Given the description of an element on the screen output the (x, y) to click on. 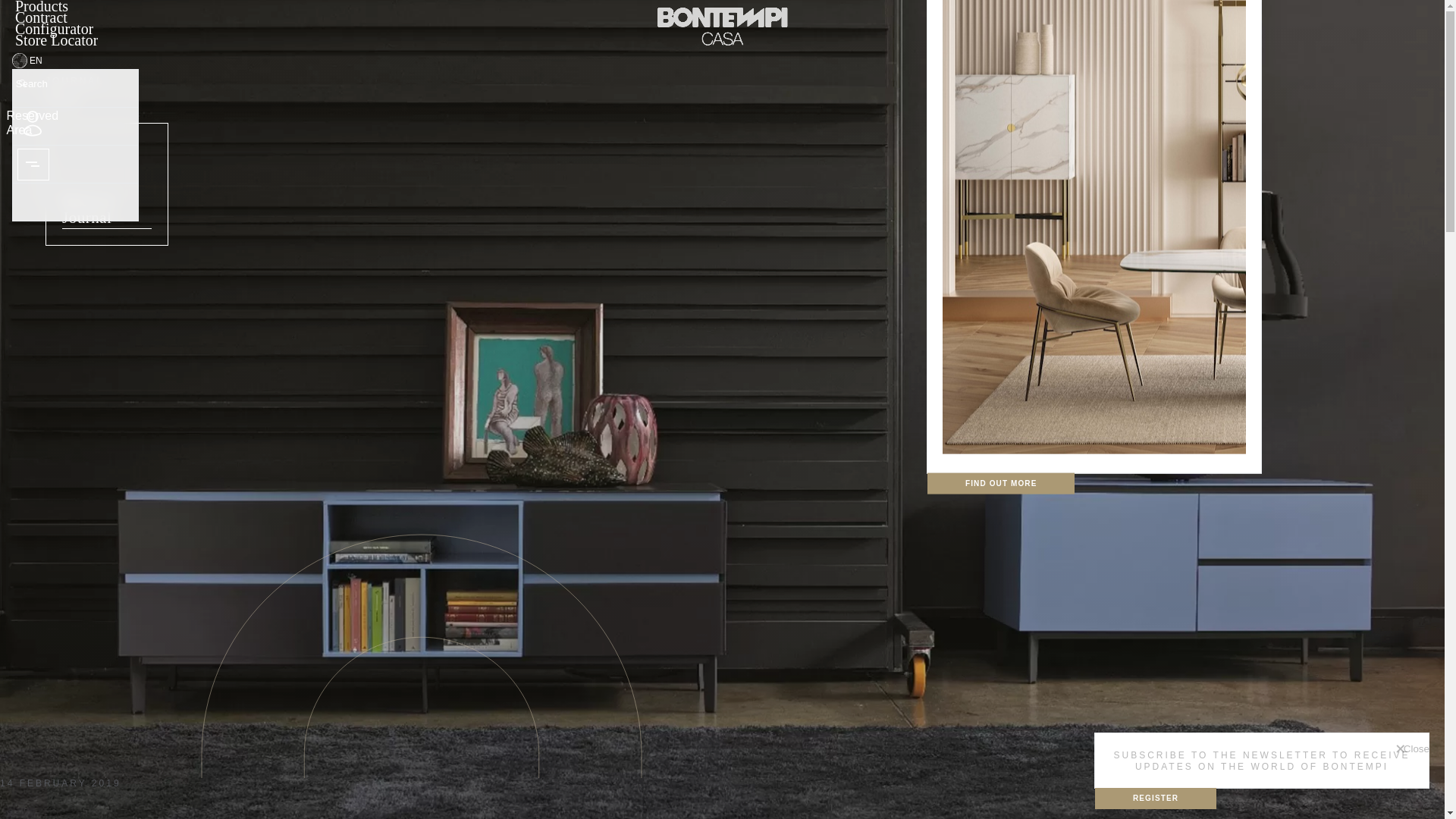
Reserved Area (32, 123)
Contract (41, 18)
Configurator (53, 29)
Products (41, 9)
Search (22, 82)
EN (18, 60)
Italiano (39, 88)
Store Locator (55, 41)
